Given the description of an element on the screen output the (x, y) to click on. 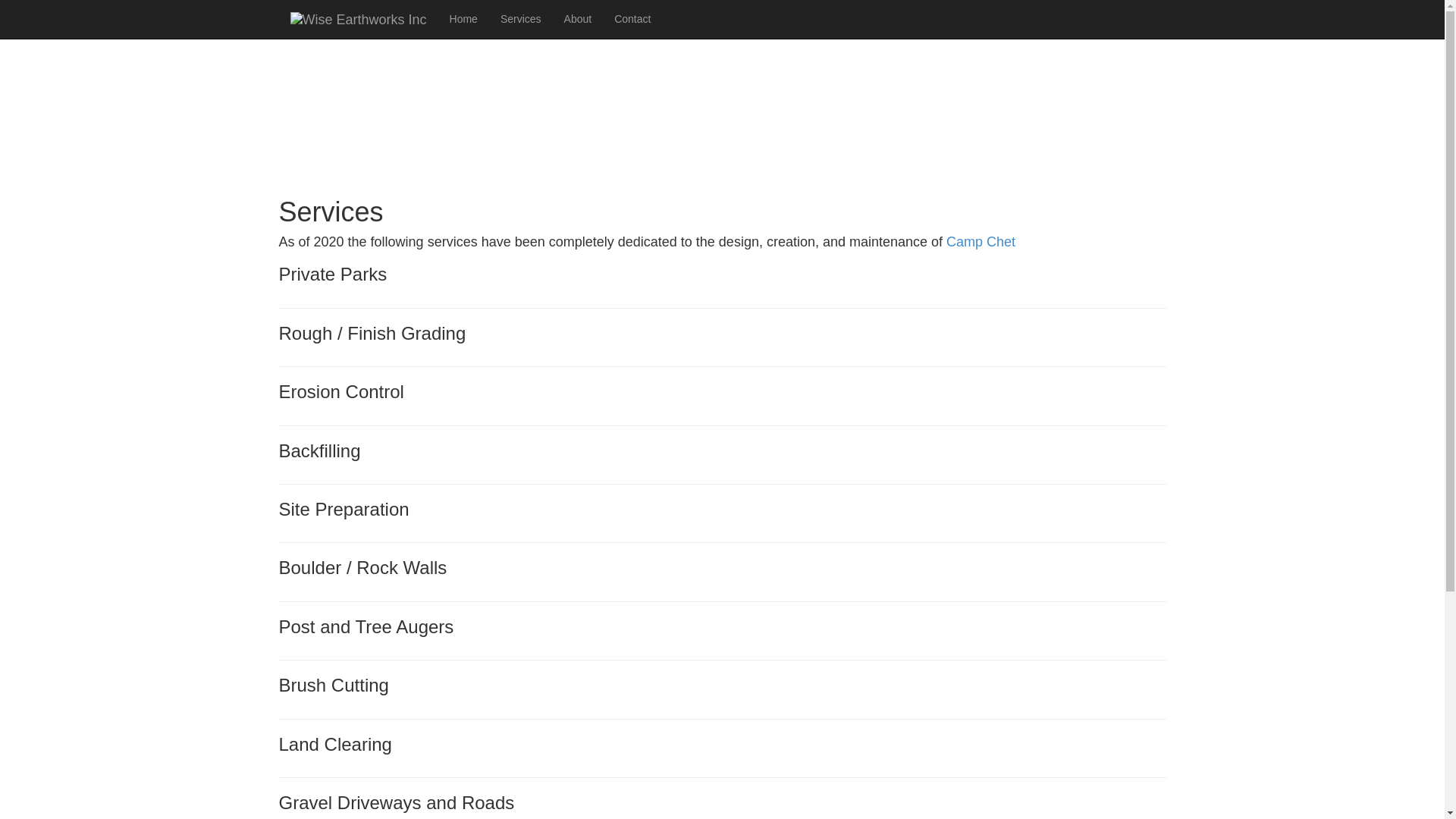
Camp Chet (980, 241)
Contact (632, 18)
About (578, 18)
Camp Chet (980, 241)
Home (463, 18)
Services (521, 18)
